Given the description of an element on the screen output the (x, y) to click on. 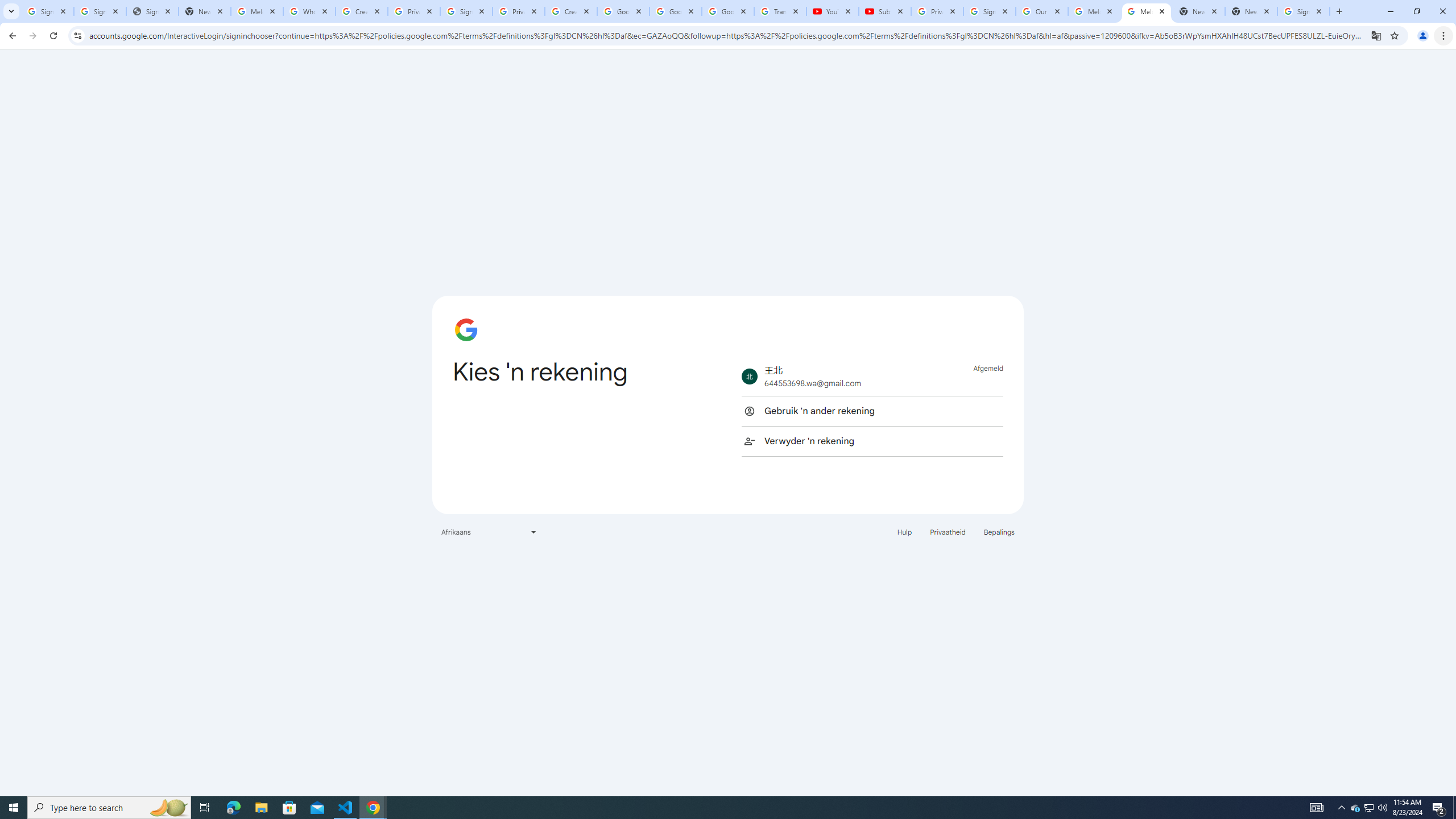
YouTube (831, 11)
Sign in - Google Accounts (47, 11)
New Tab (1251, 11)
Who is my administrator? - Google Account Help (309, 11)
Sign in - Google Accounts (1303, 11)
